Given the description of an element on the screen output the (x, y) to click on. 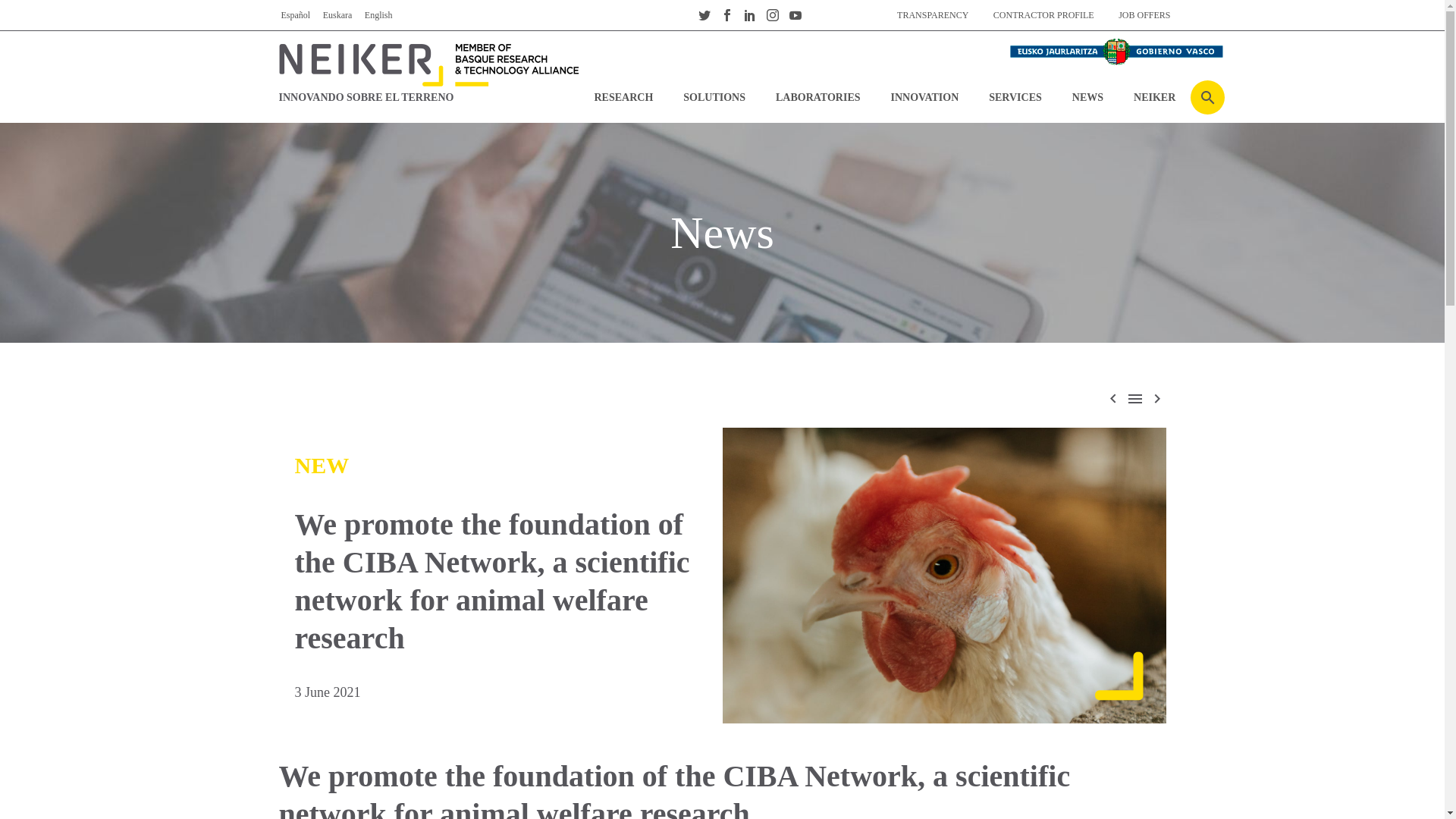
Next post (1157, 398)
TRANSPARENCY (932, 14)
English (379, 14)
SOLUTIONS (714, 97)
slack (817, 15)
SERVICES (1015, 97)
INNOVATION (925, 97)
LABORATORIES (818, 97)
facebook (727, 15)
JOB OFFERS (1144, 14)
